Given the description of an element on the screen output the (x, y) to click on. 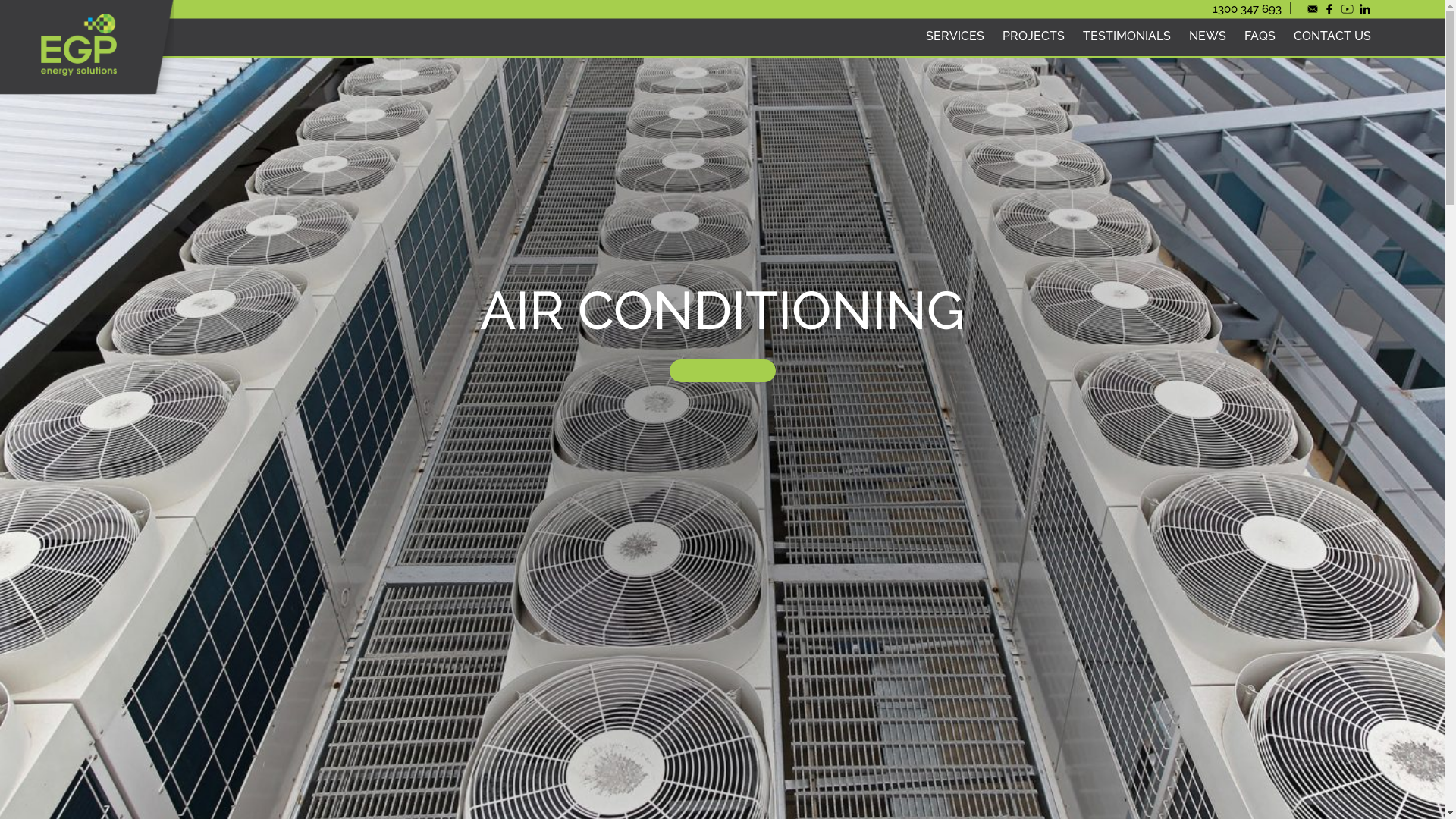
SERVICES Element type: text (954, 37)
TESTIMONIALS Element type: text (1126, 37)
FAQS Element type: text (1259, 37)
PROJECTS Element type: text (1033, 37)
CONTACT US Element type: text (1332, 37)
NEWS Element type: text (1207, 37)
1300 347 693 Element type: text (1250, 7)
